Given the description of an element on the screen output the (x, y) to click on. 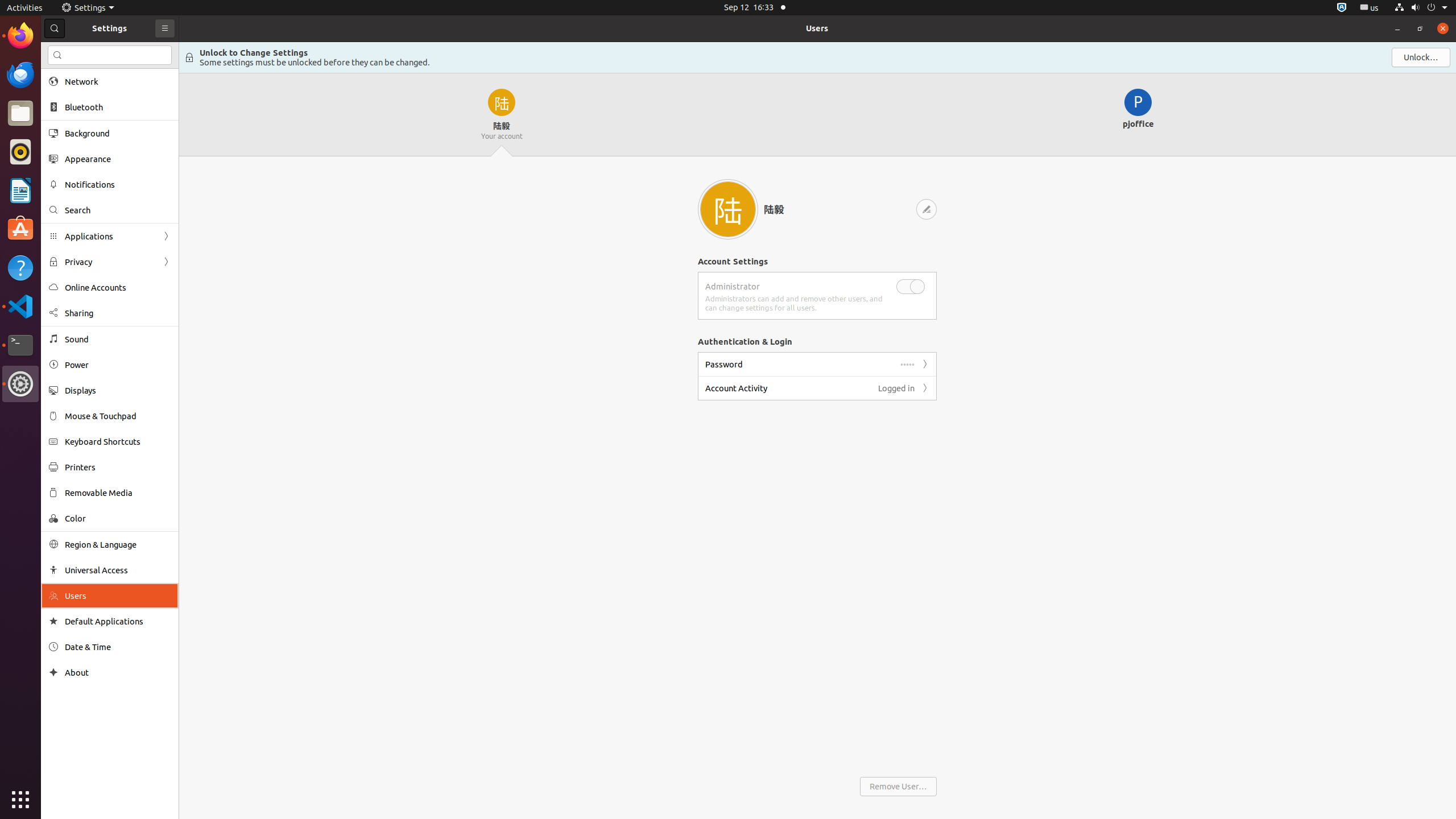
Mouse & Touchpad Element type: label (117, 415)
Authentication & Login Element type: label (744, 341)
Unlock Element type: push-button (1420, 57)
IsaHelpMain.desktop Element type: label (75, 170)
